Given the description of an element on the screen output the (x, y) to click on. 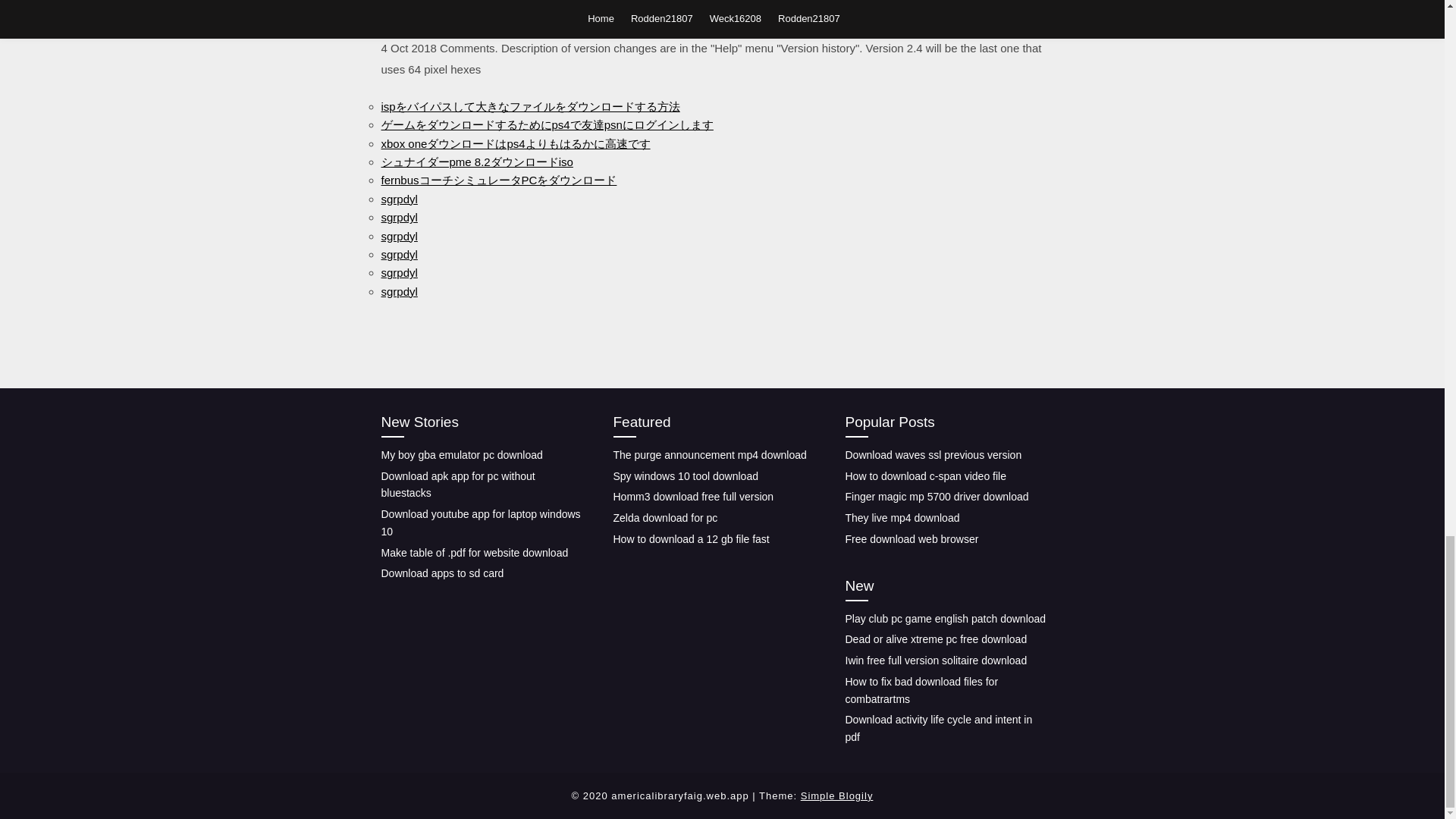
Download activity life cycle and intent in pdf (938, 727)
The purge announcement mp4 download (709, 454)
They live mp4 download (901, 517)
sgrpdyl (398, 254)
Play club pc game english patch download (944, 617)
How to fix bad download files for combatrartms (920, 690)
sgrpdyl (398, 291)
sgrpdyl (398, 272)
Spy windows 10 tool download (684, 476)
sgrpdyl (398, 236)
